Given the description of an element on the screen output the (x, y) to click on. 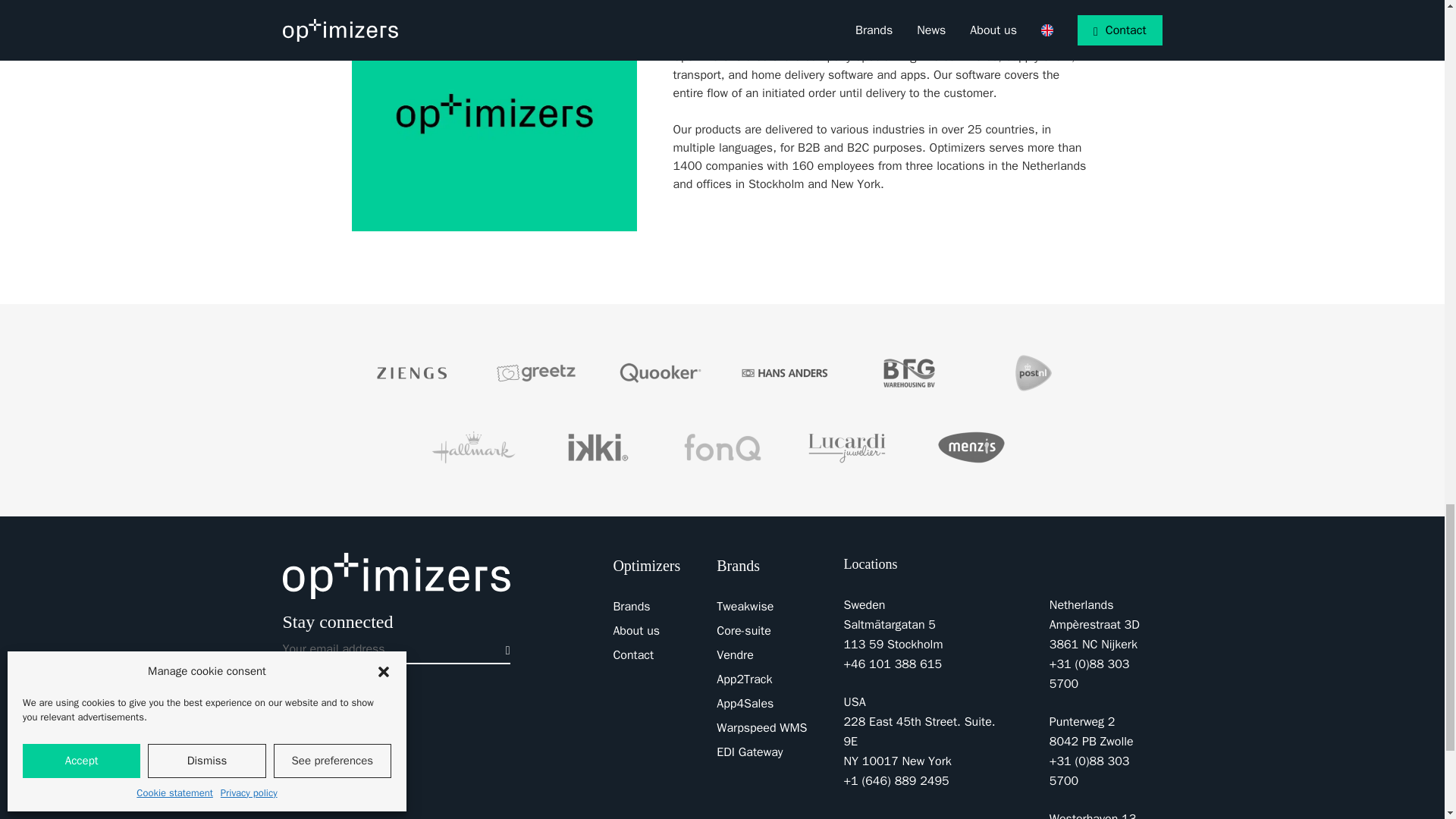
App2Track (743, 679)
Tweakwise (744, 606)
Brands (630, 606)
About us (635, 630)
Vendre (735, 654)
EDI Gateway (749, 752)
App4Sales (744, 703)
Warpspeed WMS (761, 727)
Contact (632, 654)
Core-suite (743, 630)
Subscribe (503, 647)
Optimizers (395, 575)
